Given the description of an element on the screen output the (x, y) to click on. 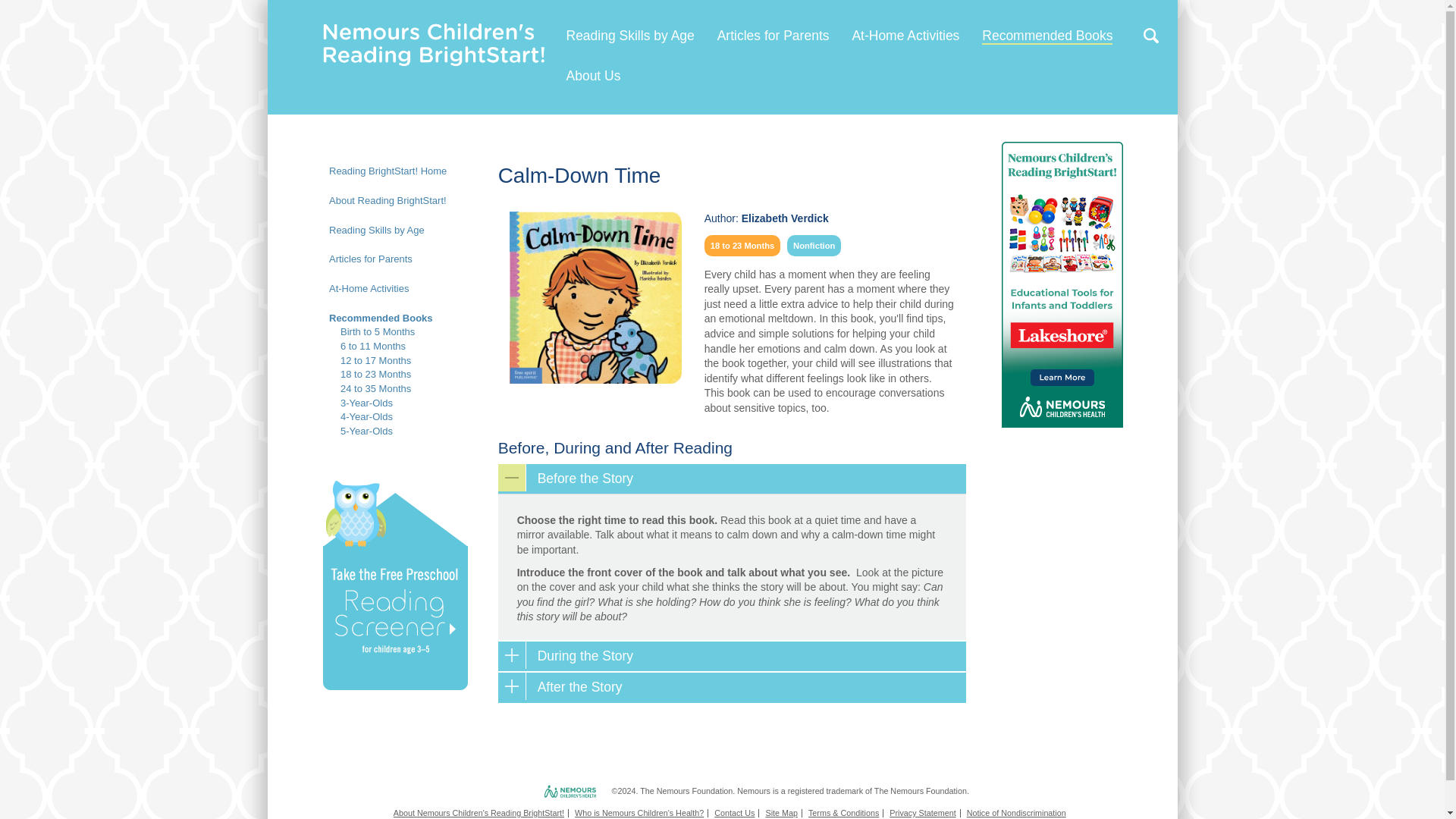
Reading Skills by Age (630, 35)
Articles for Parents (773, 35)
Nemours. Children's Health System (544, 791)
Nemours Reading BrightStart! (433, 31)
